Given the description of an element on the screen output the (x, y) to click on. 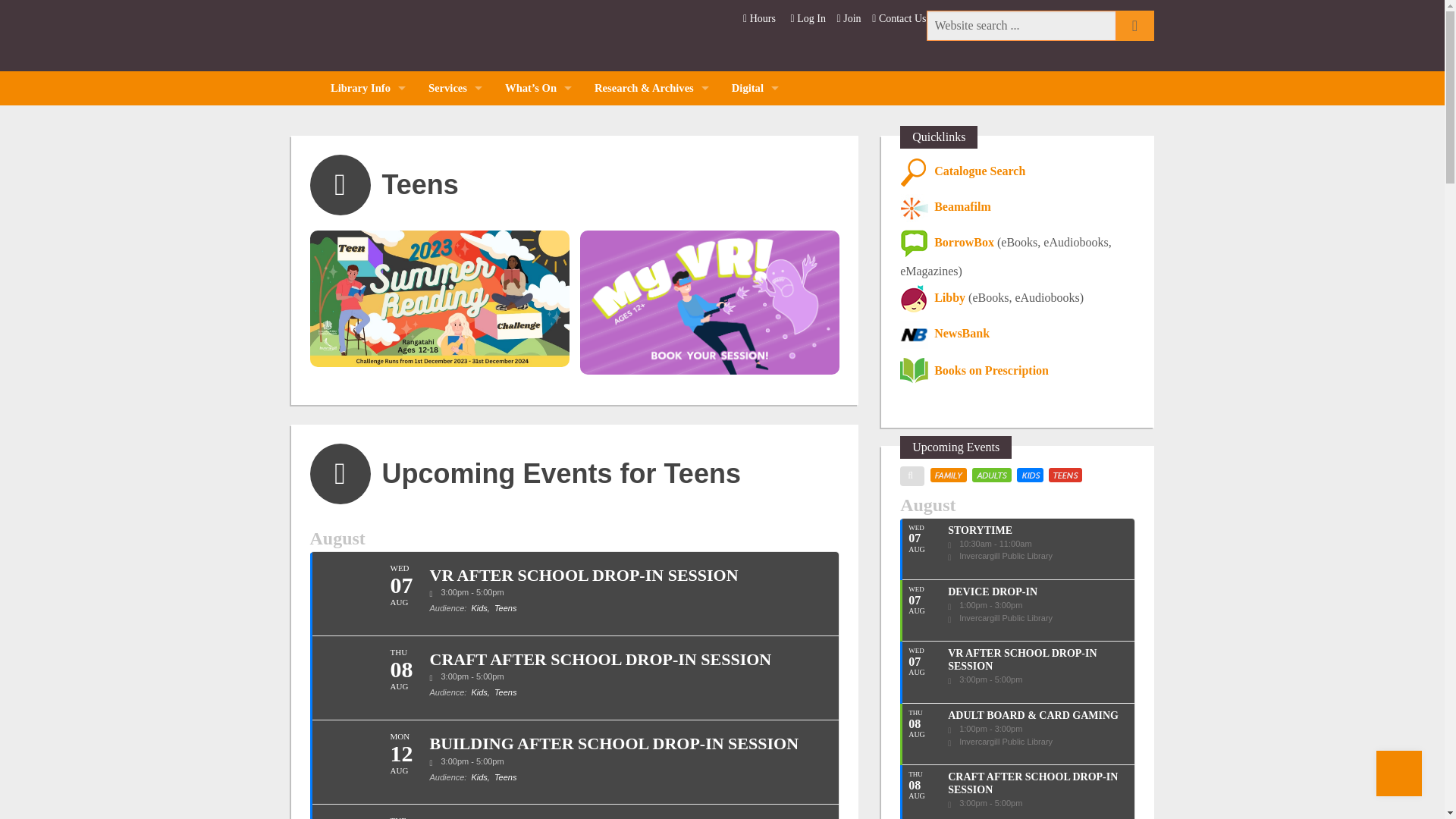
CV Proofreading (454, 326)
My Book Bag (454, 190)
Join (850, 18)
Justice of the Peace (454, 395)
Adults (538, 156)
Register: MY VR (454, 429)
Log In (807, 18)
Suggest a Purchase (454, 258)
The Library and You (367, 156)
Have Your Say! (367, 326)
Interloans (454, 156)
Invercargill City Libraries and Archives (408, 37)
Skinny Jump (454, 463)
Services (454, 88)
scroll top (1398, 773)
